Given the description of an element on the screen output the (x, y) to click on. 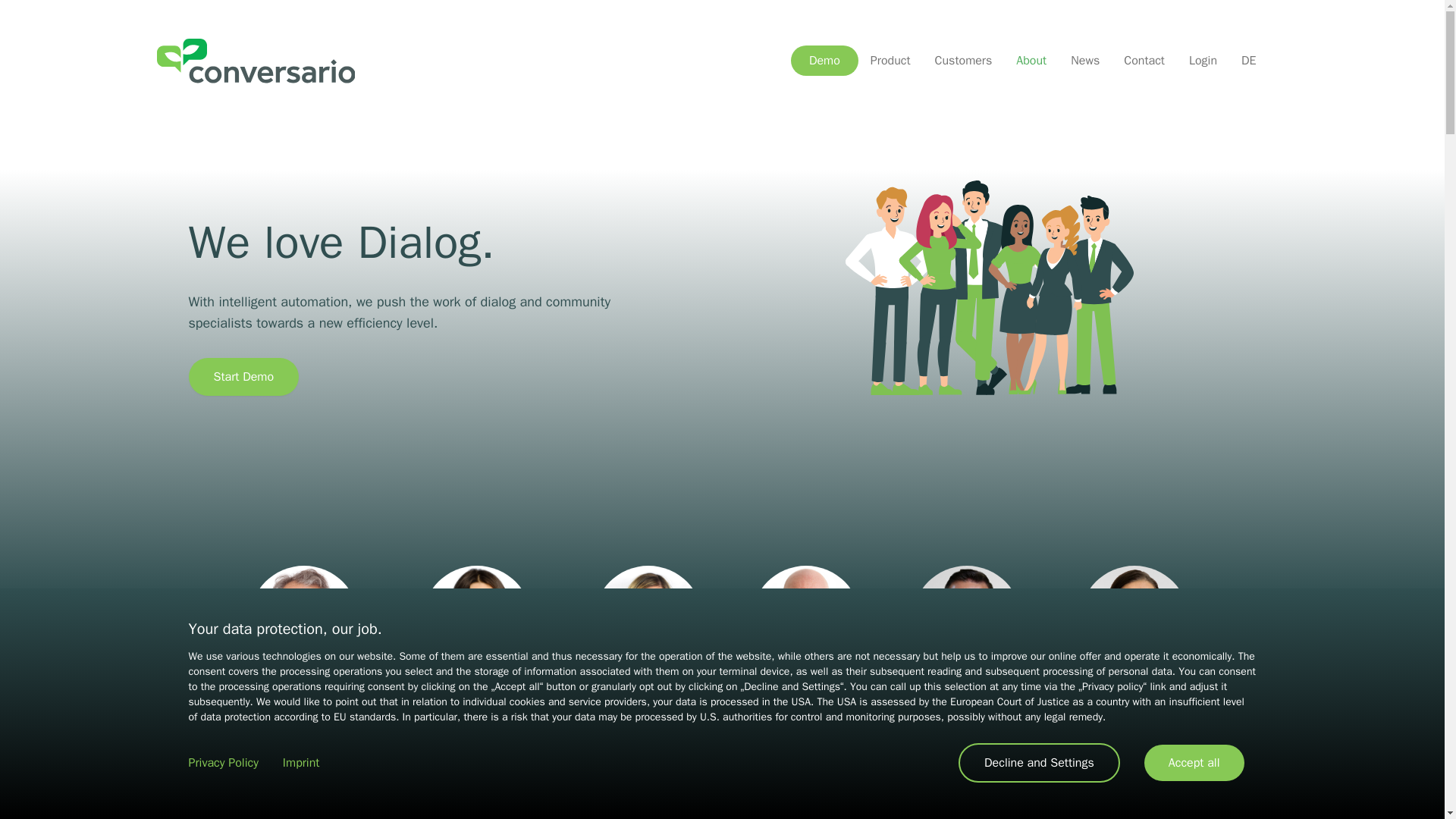
Accept all (1194, 762)
Customers (963, 60)
Imprint (301, 762)
Contact (1144, 60)
Conversario (271, 60)
Privacy Policy (222, 762)
Demo (824, 60)
Start Demo (242, 376)
Decline and Settings (1038, 762)
Login (1203, 60)
